Given the description of an element on the screen output the (x, y) to click on. 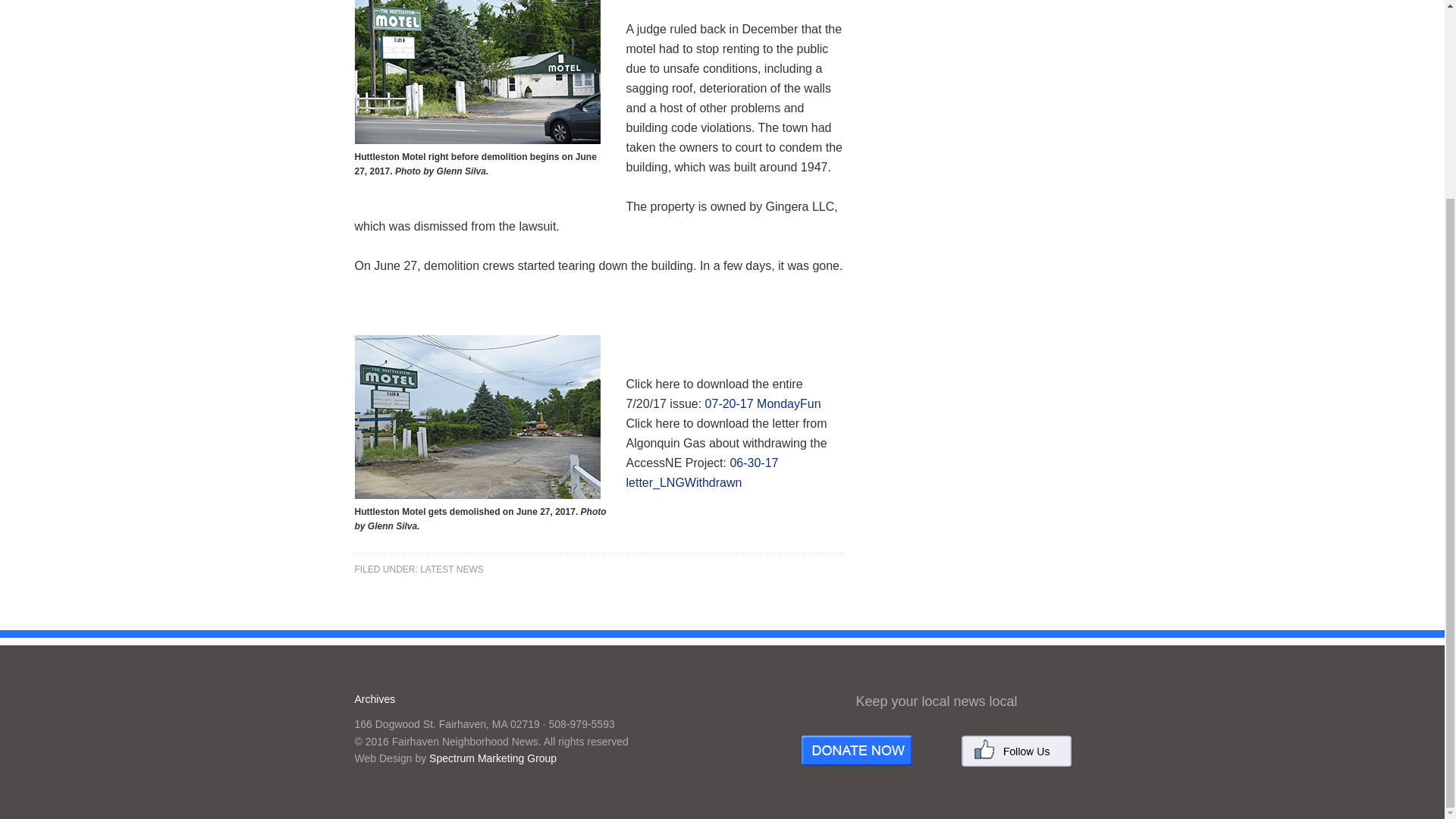
Archives (375, 698)
LATEST NEWS (451, 568)
07-20-17 MondayFun (762, 402)
Spectrum Marketing Group (492, 758)
